Given the description of an element on the screen output the (x, y) to click on. 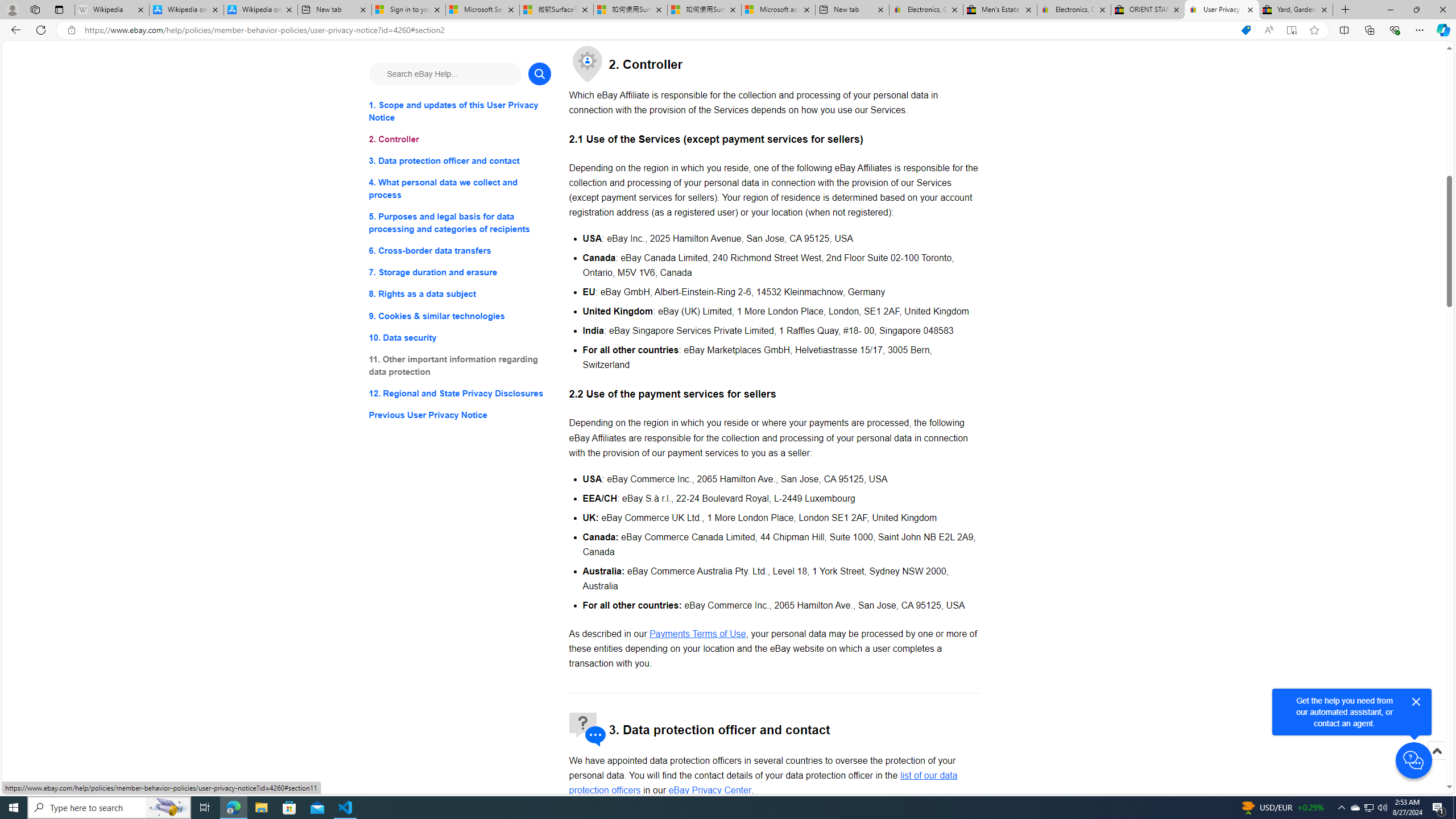
11. Other important information regarding data protection (459, 365)
eBay Privacy Center - opens in new window or tab (709, 790)
